Given the description of an element on the screen output the (x, y) to click on. 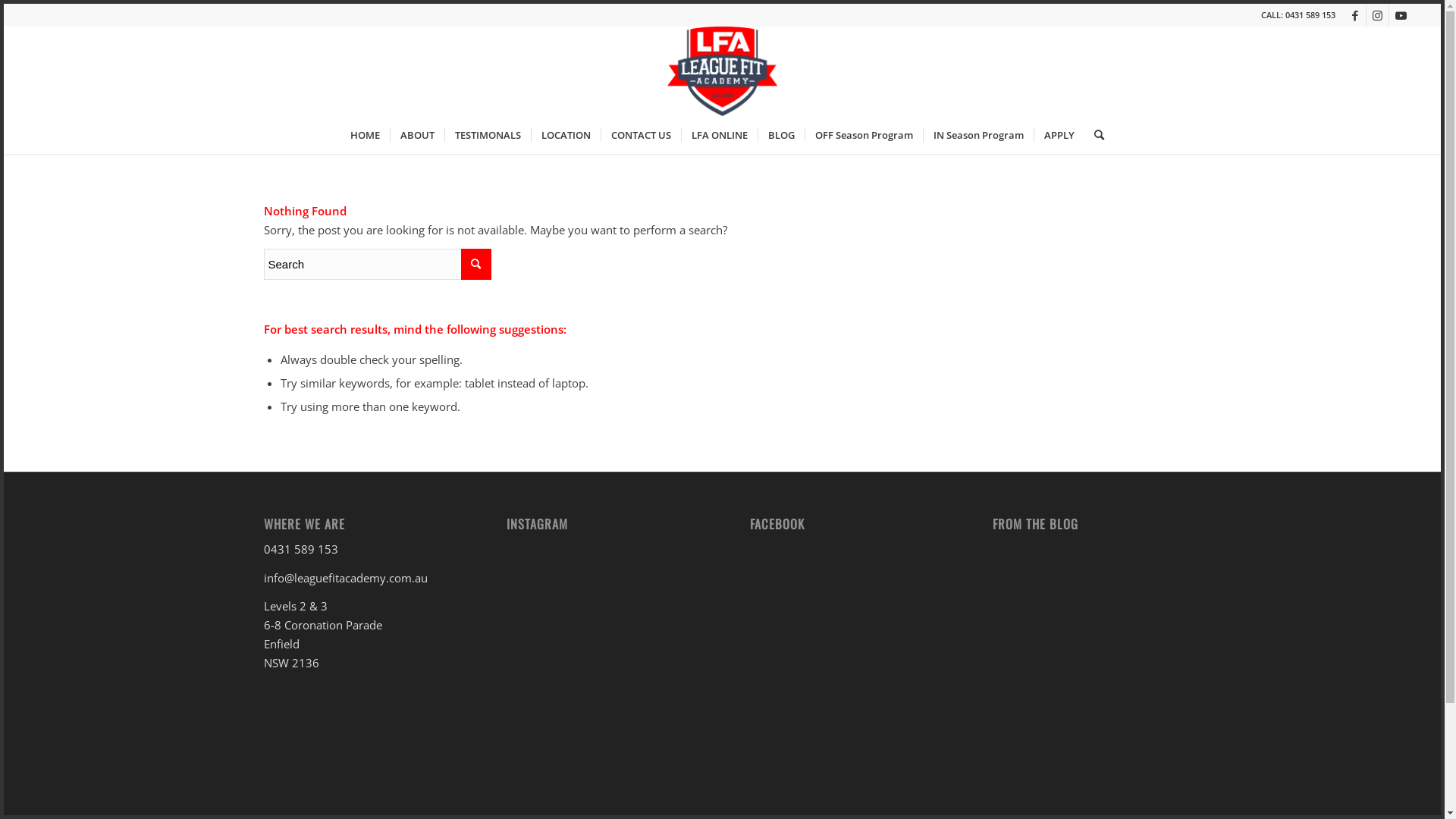
ABOUT Element type: text (416, 134)
TESTIMONALS Element type: text (487, 134)
IN Season Program Element type: text (977, 134)
Instagram Element type: hover (1377, 14)
OFF Season Program Element type: text (863, 134)
LOCATION Element type: text (565, 134)
CONTACT US Element type: text (640, 134)
BLOG Element type: text (780, 134)
Facebook Element type: hover (1354, 14)
Youtube Element type: hover (1400, 14)
LFA ONLINE Element type: text (718, 134)
APPLY Element type: text (1058, 134)
HOME Element type: text (364, 134)
